Given the description of an element on the screen output the (x, y) to click on. 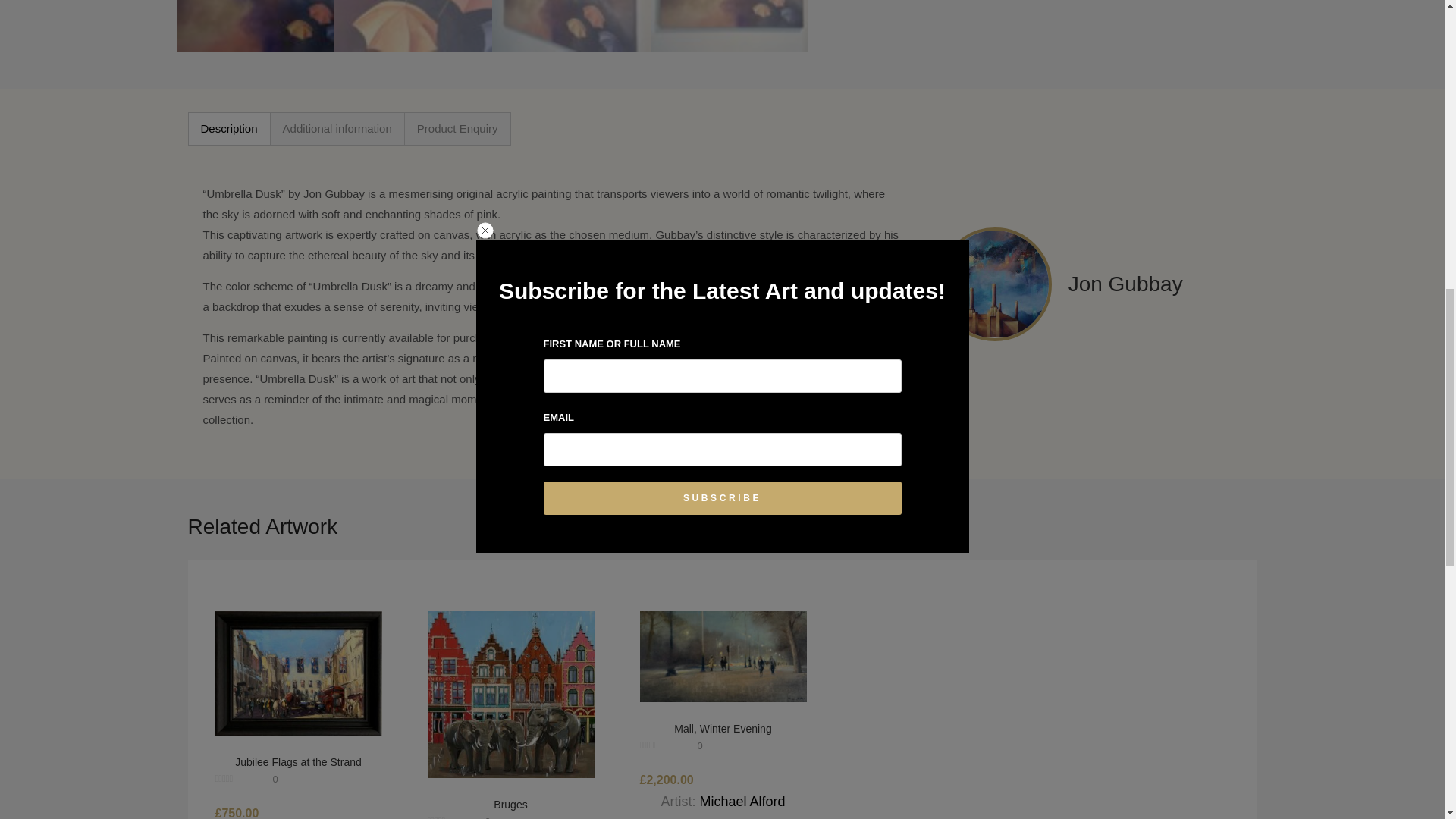
Jubilee Flags at the Strand (298, 672)
Bruges (511, 693)
Mall, Winter Evening (723, 655)
